Given the description of an element on the screen output the (x, y) to click on. 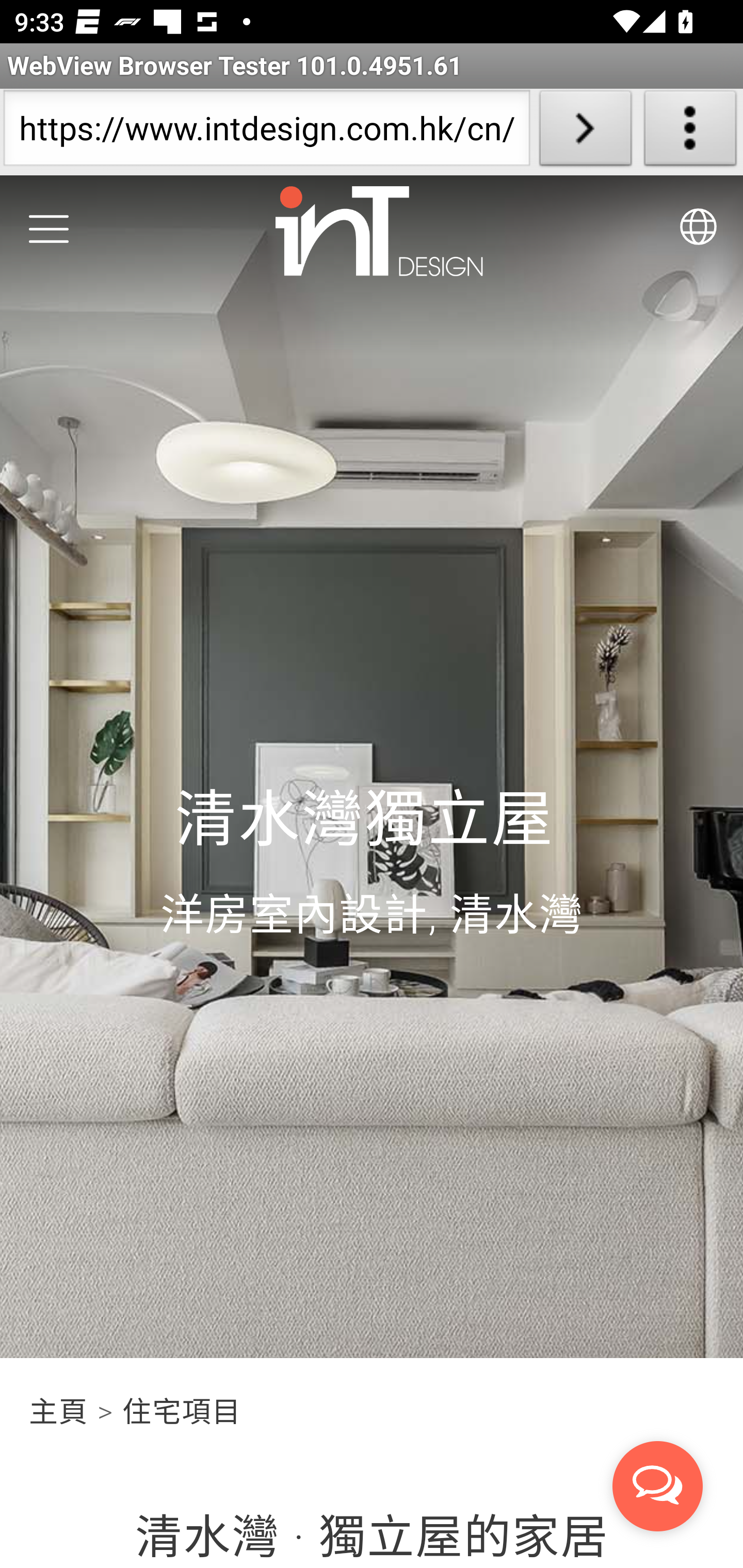
Load URL (585, 132)
About WebView (690, 132)
主頁 (59, 1411)
住宅項目 (181, 1411)
Open messengers list (657, 1487)
